Given the description of an element on the screen output the (x, y) to click on. 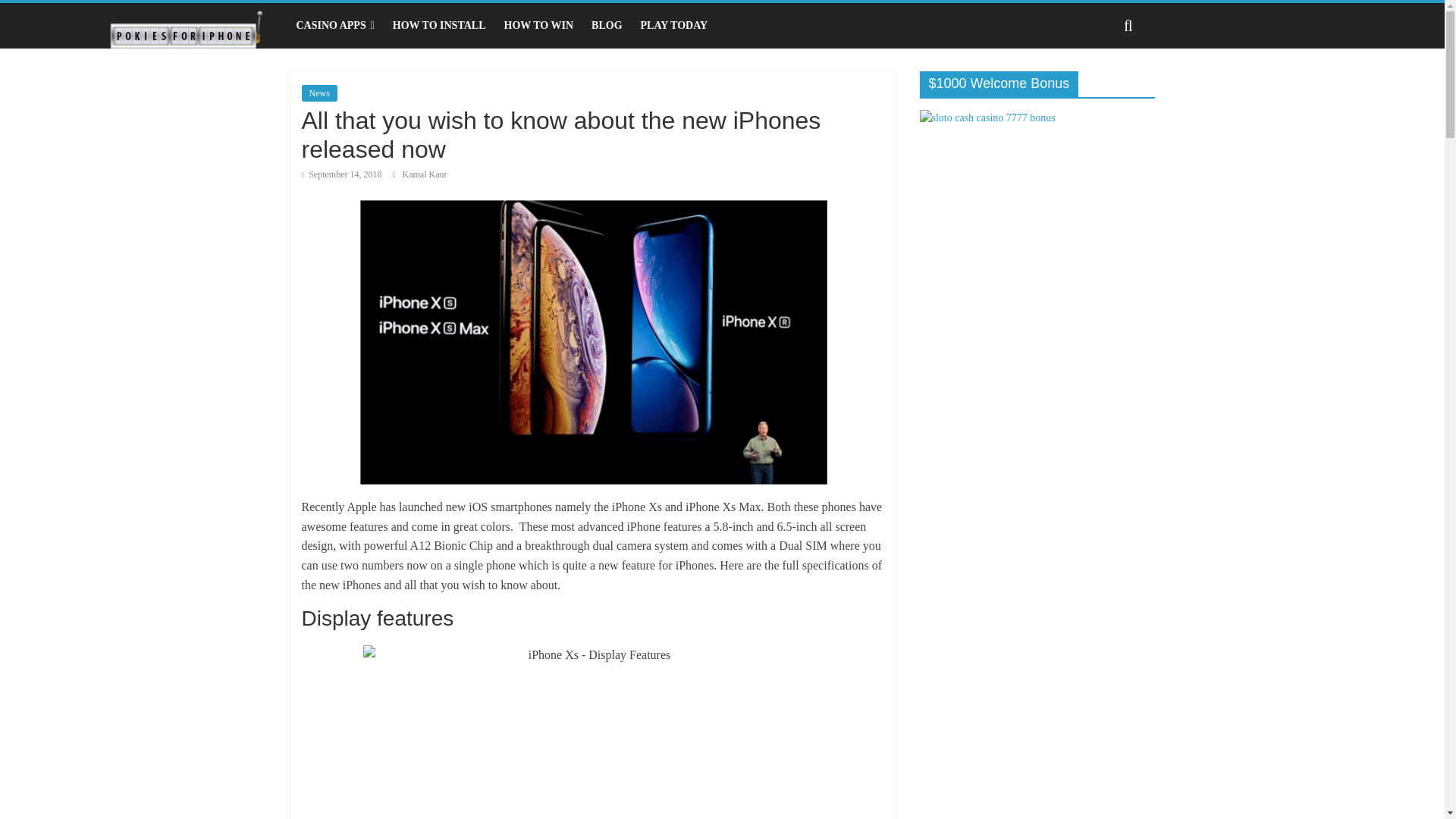
BLOG (606, 25)
News (319, 93)
HOW TO INSTALL (439, 25)
CASINO APPS (334, 25)
PLAY TODAY (674, 25)
4:00 am (341, 173)
HOW TO WIN (538, 25)
Kamal Kaur (424, 173)
Kamal Kaur (424, 173)
September 14, 2018 (341, 173)
